Given the description of an element on the screen output the (x, y) to click on. 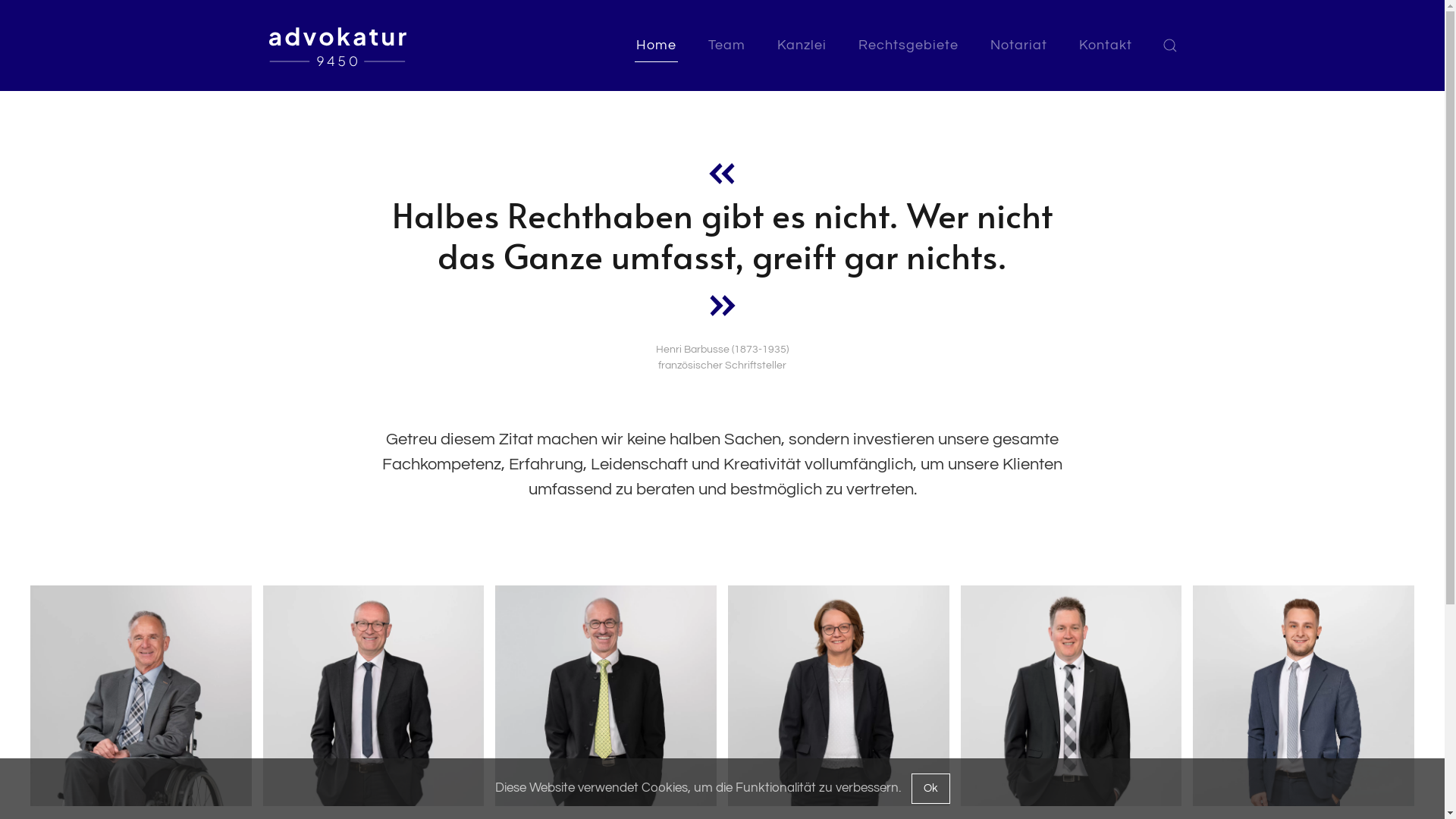
Ok Element type: text (930, 788)
Notariat Element type: text (1018, 45)
Kanzlei Element type: text (801, 45)
Team Element type: text (726, 45)
Home Element type: text (655, 45)
Kontakt Element type: text (1104, 45)
Rechtsgebiete Element type: text (908, 45)
